Given the description of an element on the screen output the (x, y) to click on. 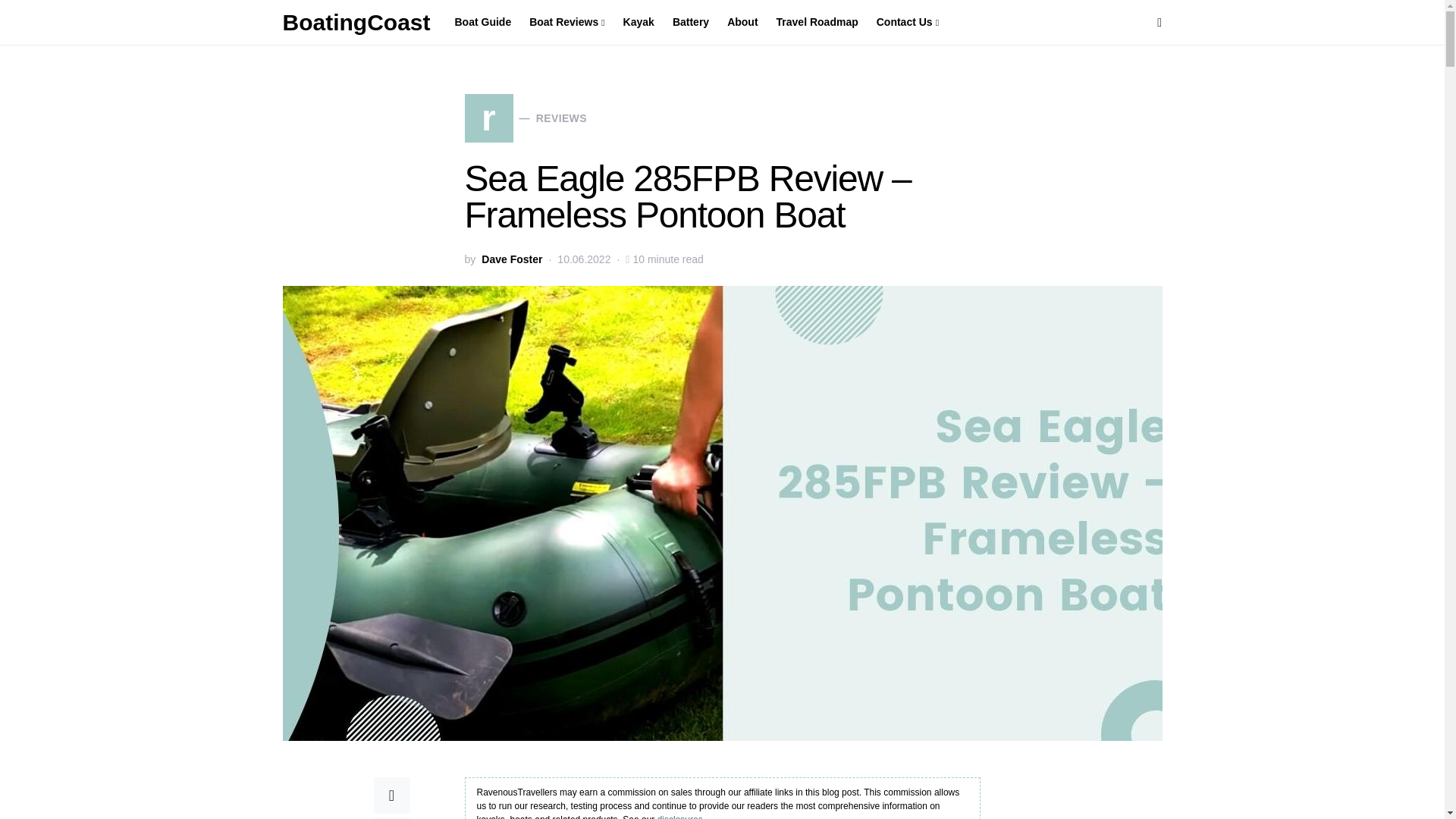
Dave Foster (511, 259)
Boat Guide (487, 22)
Travel Roadmap (817, 22)
Kayak (638, 22)
View all posts by Dave Foster (511, 259)
BoatingCoast (355, 22)
About (525, 118)
Contact Us (742, 22)
Boat Reviews (903, 22)
